Given the description of an element on the screen output the (x, y) to click on. 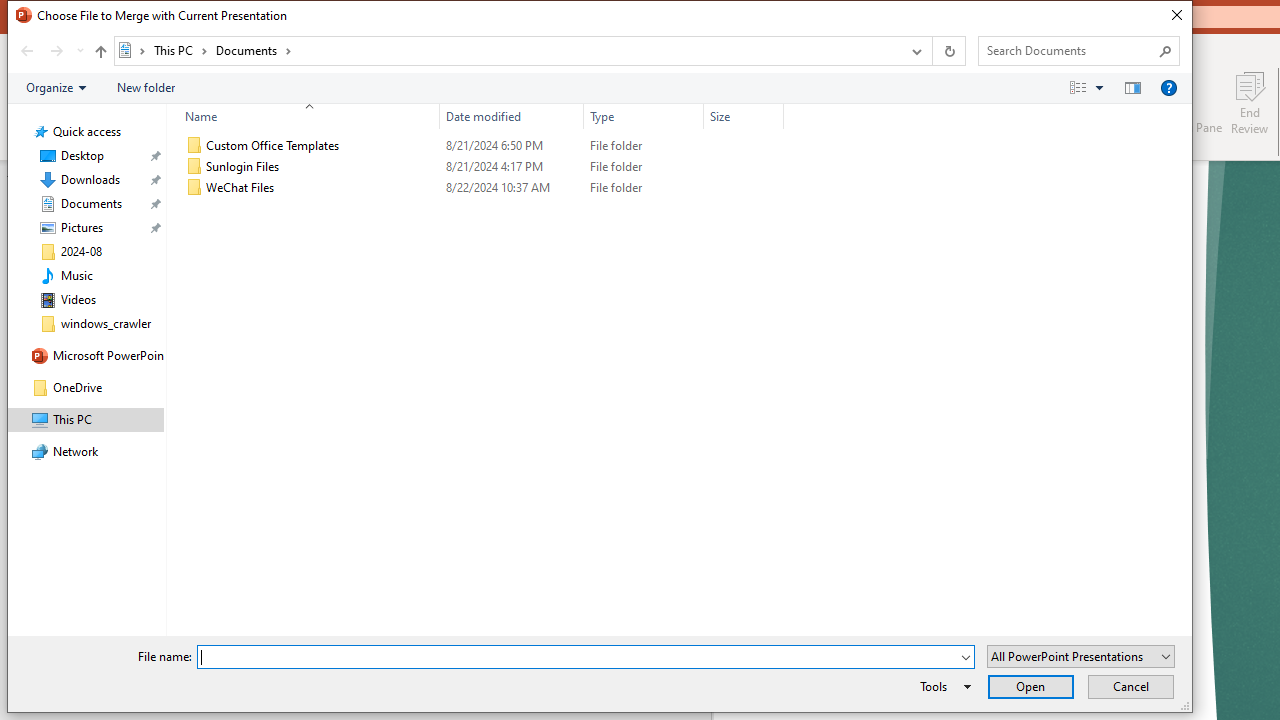
Views (1090, 87)
Tools (942, 686)
Navigation buttons (50, 51)
Previous Locations (914, 51)
Command Module (599, 87)
File name: (577, 657)
This PC (180, 50)
Address band toolbar (931, 51)
Type (643, 187)
Address: Documents (506, 51)
Date modified (511, 187)
Cancel (1130, 686)
WeChat Files (480, 187)
